Given the description of an element on the screen output the (x, y) to click on. 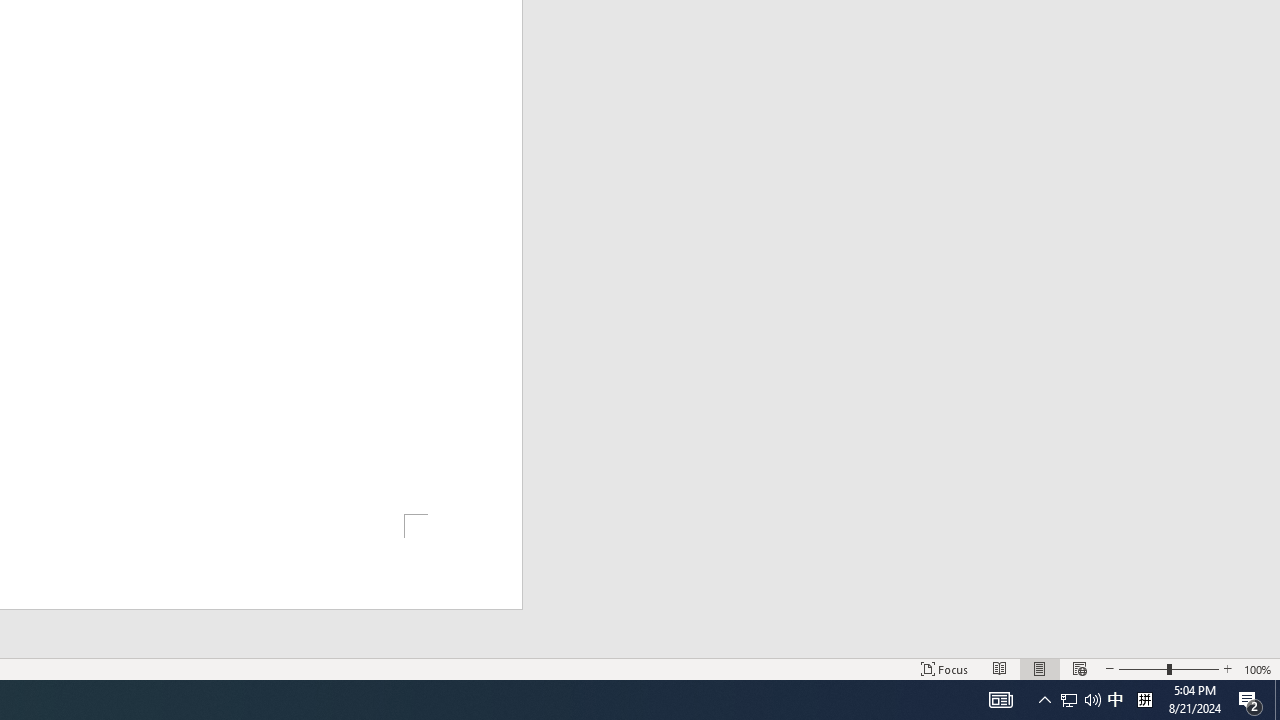
Zoom In (1227, 668)
Read Mode (1000, 668)
Zoom Out (1142, 668)
Zoom (1168, 668)
Print Layout (1039, 668)
Focus  (944, 668)
Zoom 100% (1258, 668)
Web Layout (1079, 668)
